Given the description of an element on the screen output the (x, y) to click on. 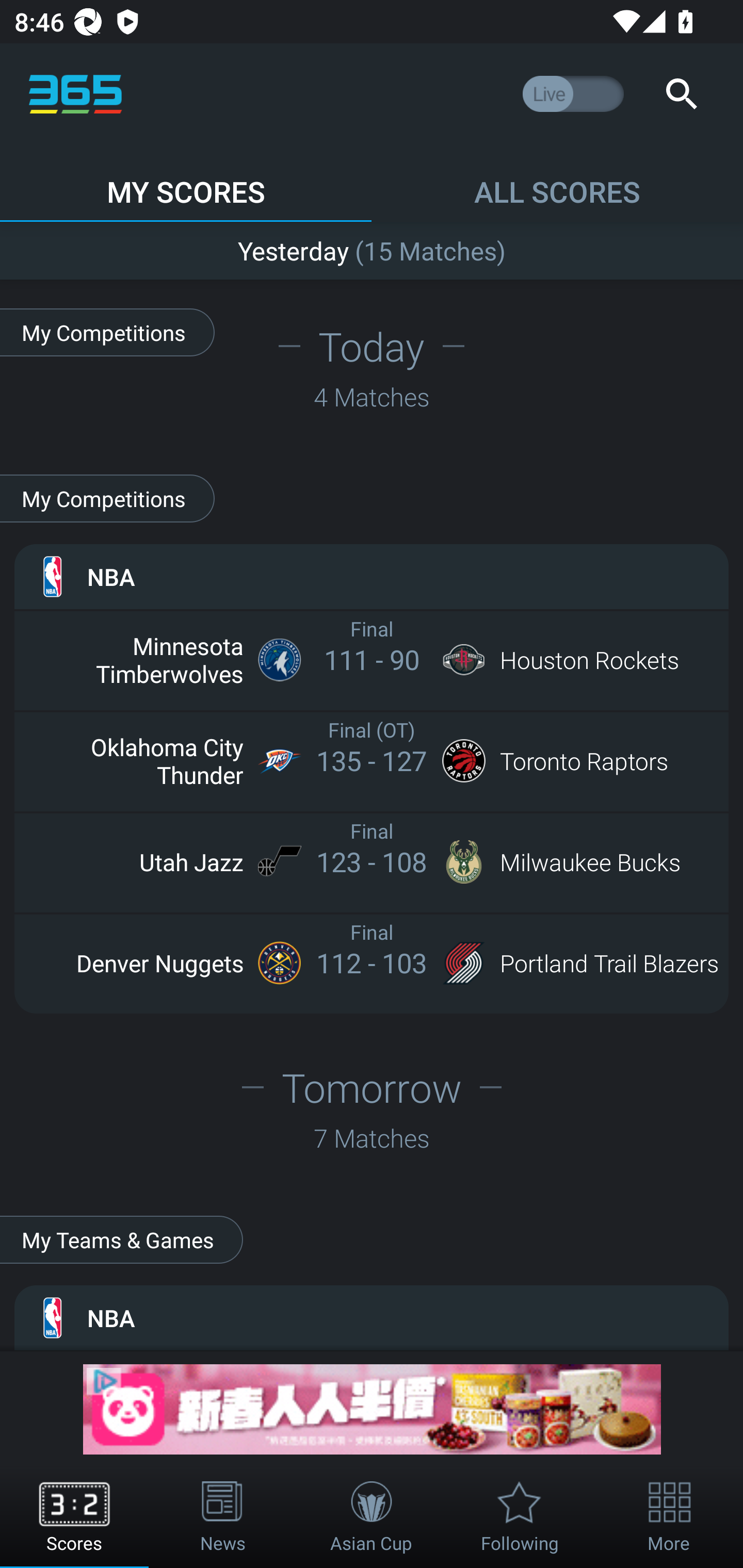
Search (681, 93)
MY SCORES (185, 182)
ALL SCORES (557, 182)
RB Leipzig 2 - 0 Union Berlin (371, 246)
NBA (371, 576)
Utah Jazz Final 123 - 108 Milwaukee Bucks (371, 861)
NBA (371, 1317)
mg0gkqli_320x50 (371, 1409)
News (222, 1517)
Asian Cup (371, 1517)
Following (519, 1517)
More (668, 1517)
